Given the description of an element on the screen output the (x, y) to click on. 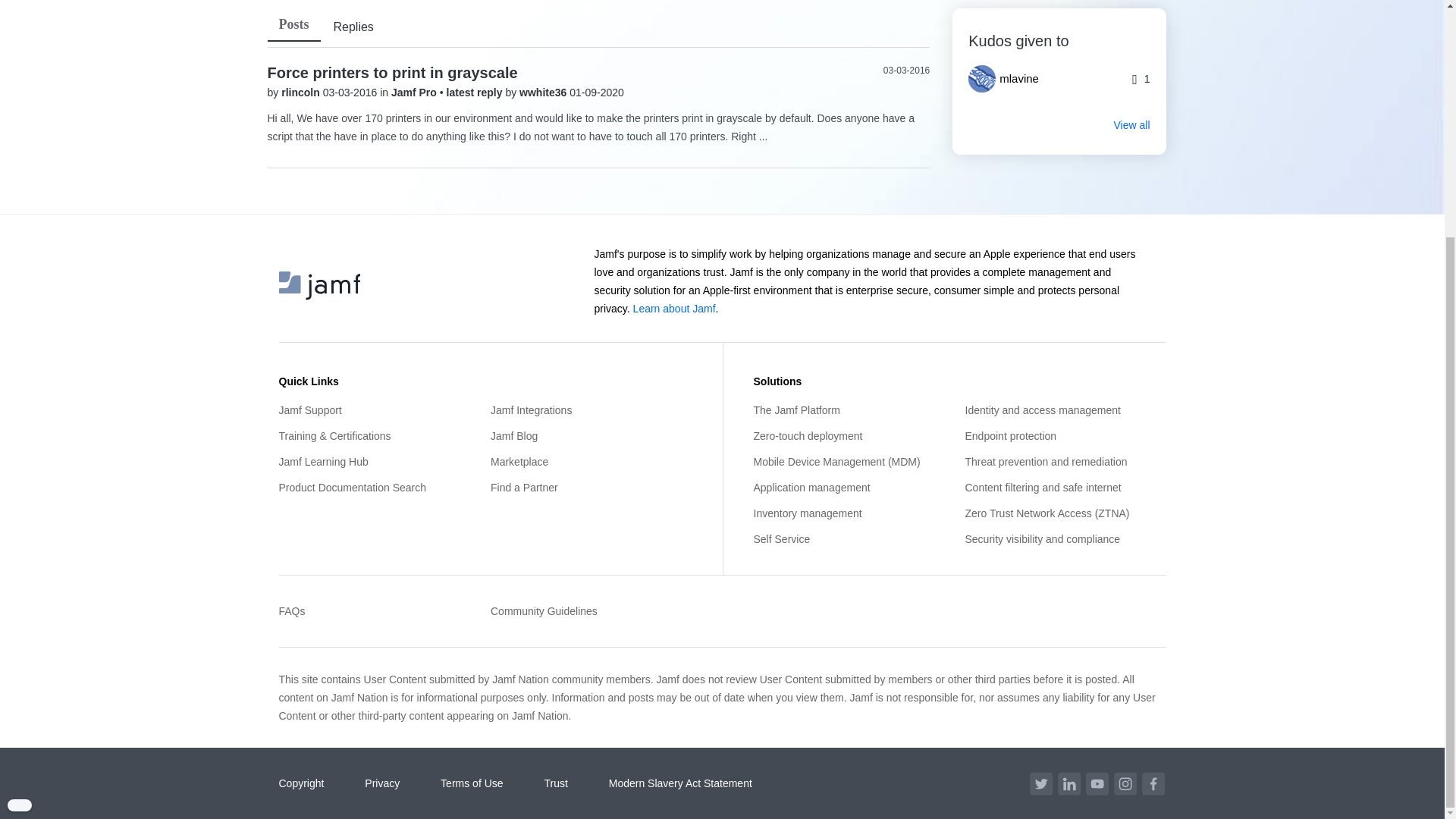
Jamf Support (379, 410)
03-03-2016 12:36 PM 03-03-2016 12:36 PM (906, 70)
View post (475, 92)
Jamf Pro (415, 92)
View all (1059, 124)
wwhite36 (544, 92)
View profile (544, 92)
Posts (293, 24)
View profile (301, 92)
Force printers to print in grayscale (391, 72)
Replies (352, 27)
Learn about Jamf (674, 308)
mlavine (1008, 78)
rlincoln (301, 92)
latest reply (475, 92)
